Given the description of an element on the screen output the (x, y) to click on. 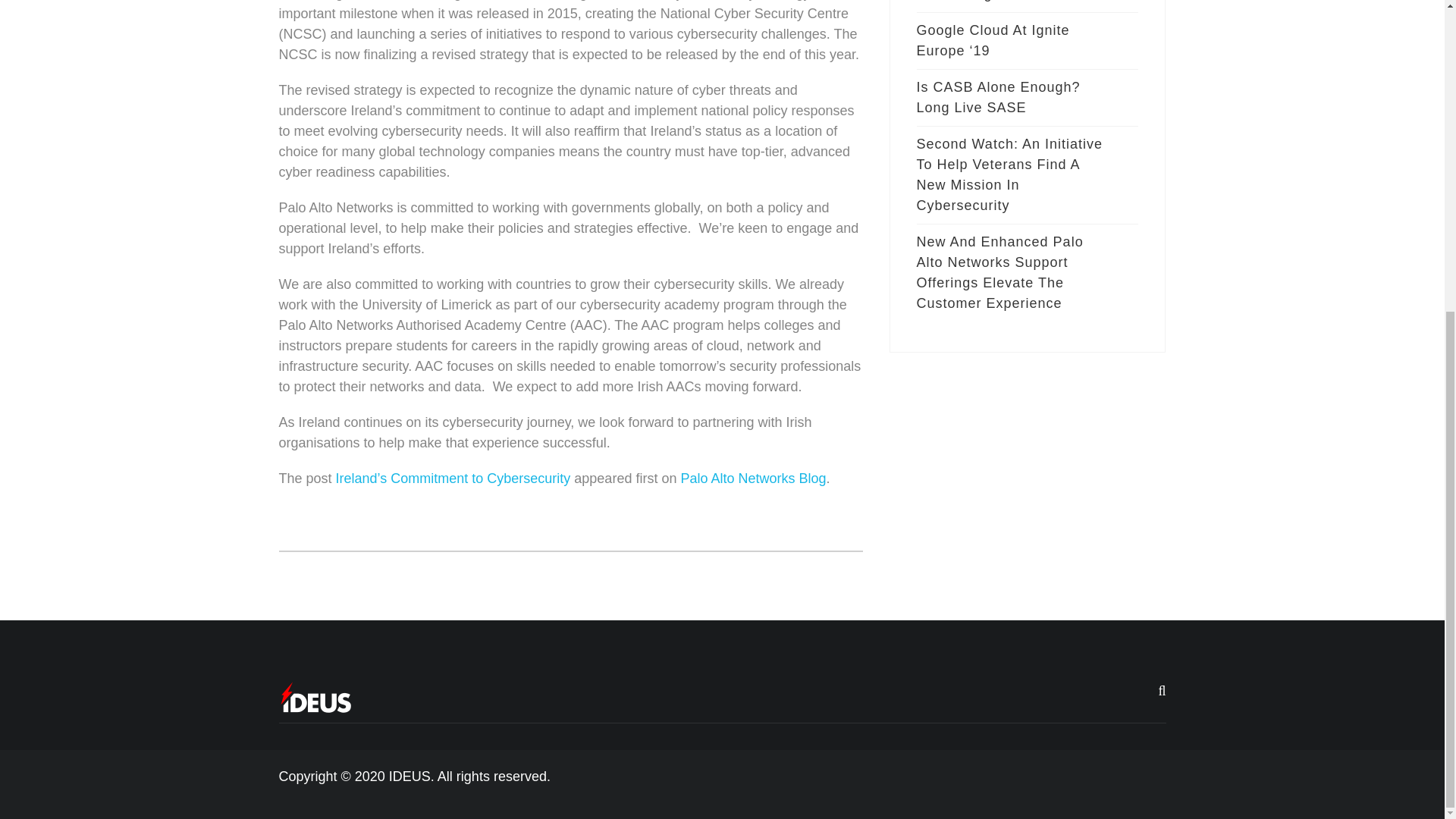
Is CASB Alone Enough? Long Live SASE (1013, 97)
Introducing Cortex XDR 2.0 (1013, 6)
Palo Alto Networks Blog (752, 478)
